Given the description of an element on the screen output the (x, y) to click on. 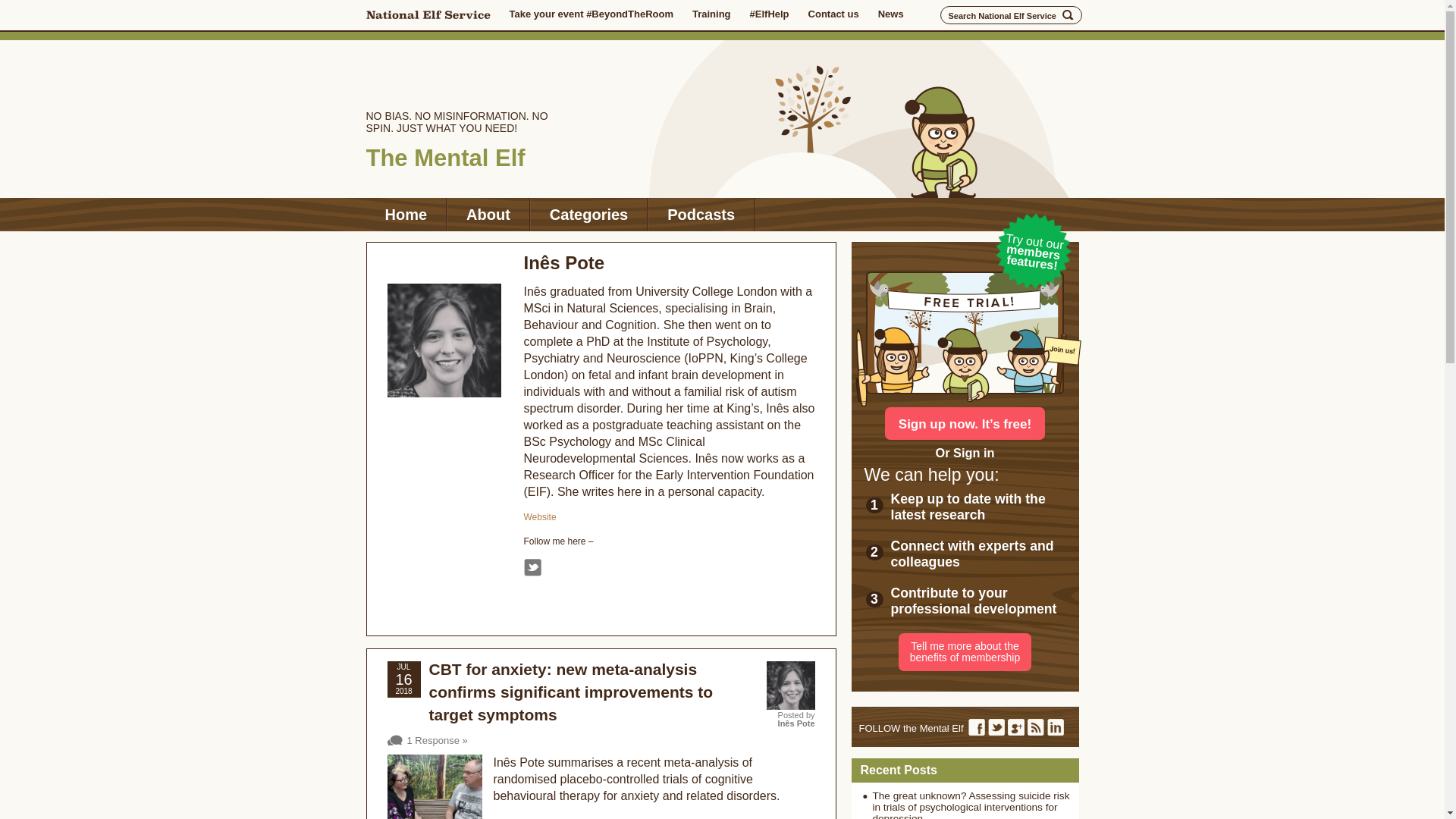
News (890, 13)
Search (1068, 14)
Twitter (531, 567)
Categories (588, 214)
Home (405, 214)
About (487, 214)
Training (711, 13)
Contact us (833, 13)
Search (1068, 14)
